Given the description of an element on the screen output the (x, y) to click on. 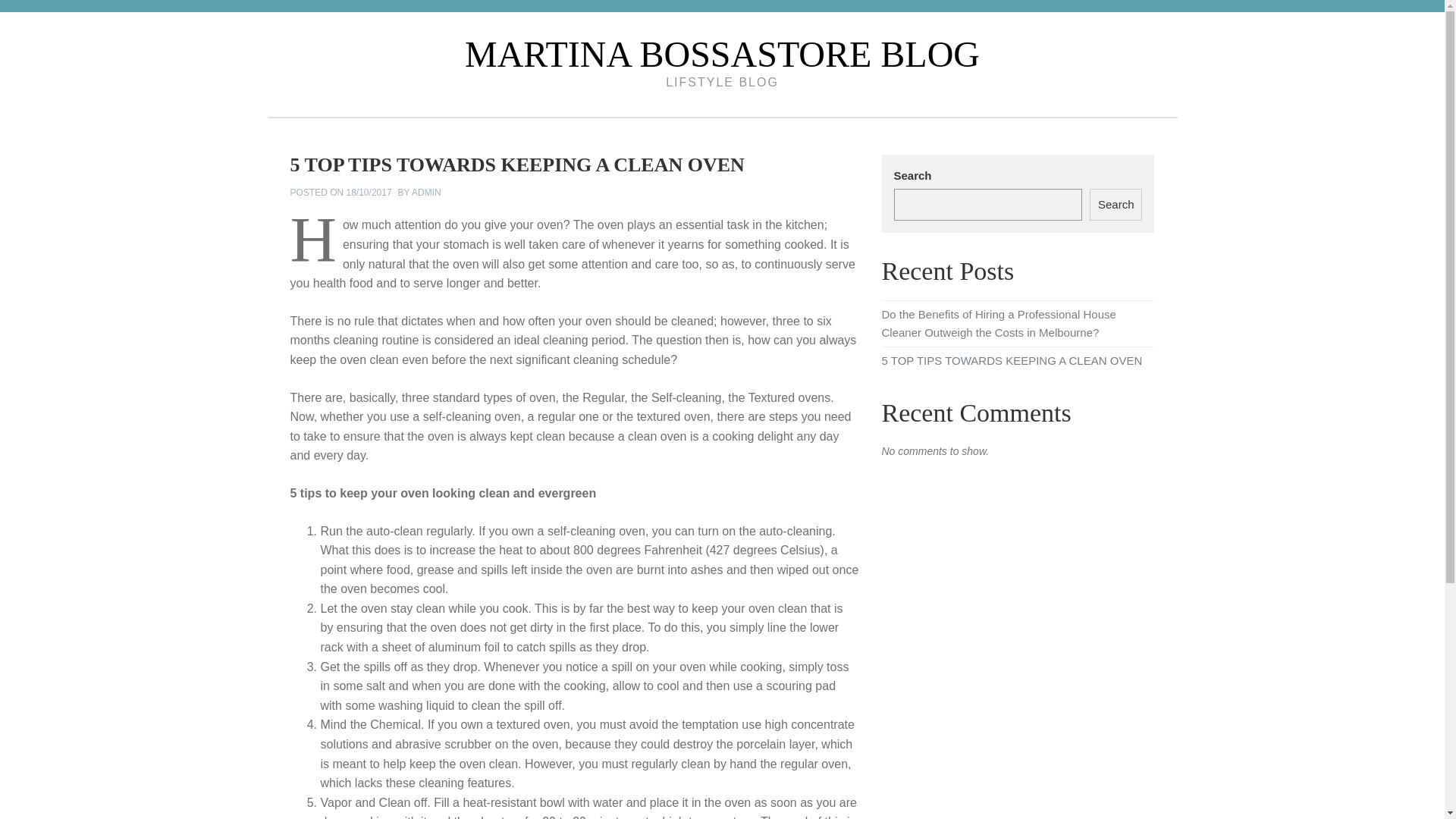
5 TOP TIPS TOWARDS KEEPING A CLEAN OVEN (1010, 359)
MARTINA BOSSASTORE BLOG (721, 54)
ADMIN (426, 192)
Search (1115, 204)
